Given the description of an element on the screen output the (x, y) to click on. 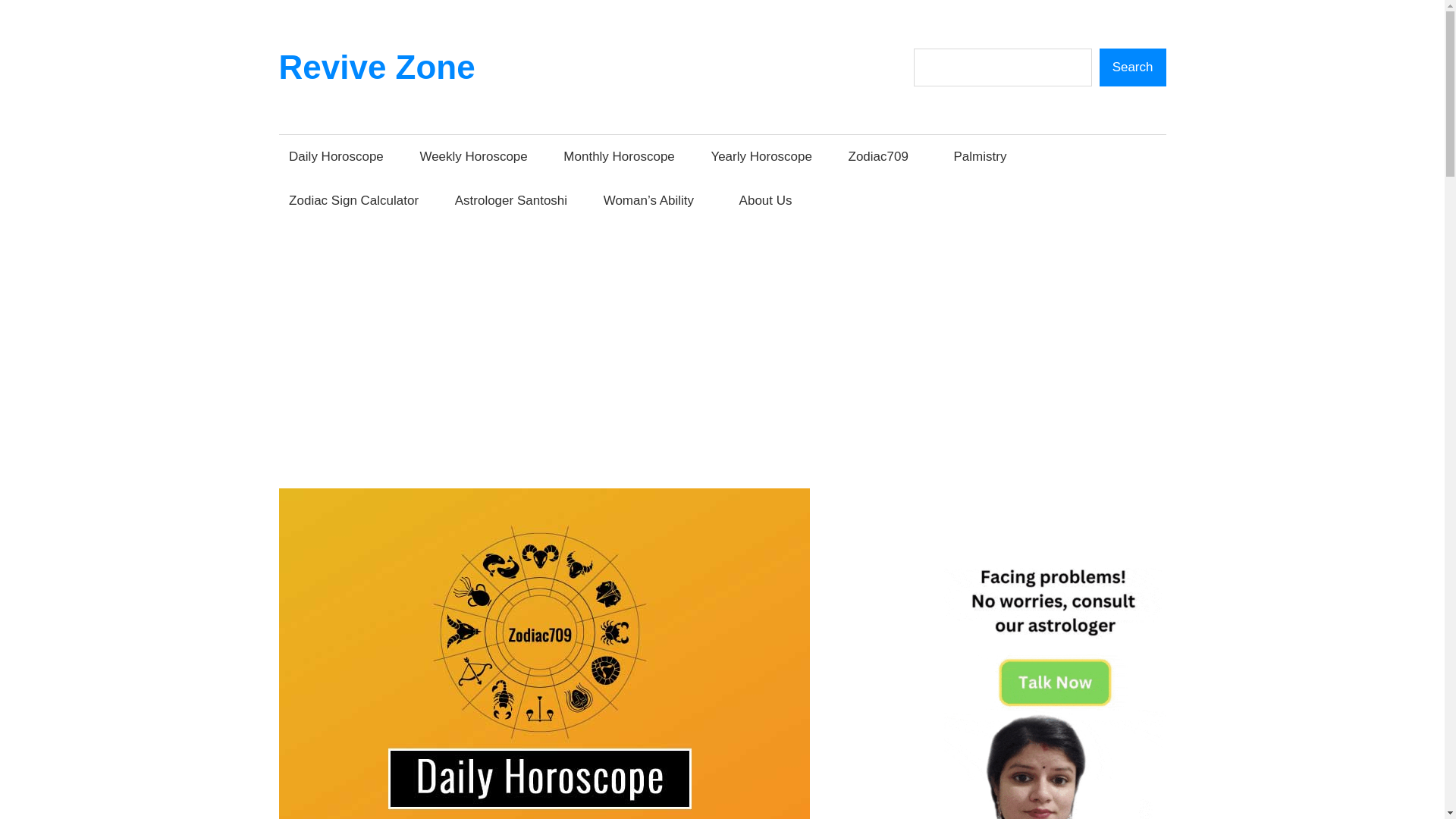
Revive Zone (377, 66)
Zodiac709 (883, 156)
Palmistry (979, 156)
Monthly Horoscope (619, 156)
Weekly Horoscope (473, 156)
About Us (769, 199)
Zodiac Sign Calculator (354, 199)
Search (1132, 67)
Yearly Horoscope (761, 156)
Astrologer Santoshi (511, 199)
Daily Horoscope (336, 156)
